Given the description of an element on the screen output the (x, y) to click on. 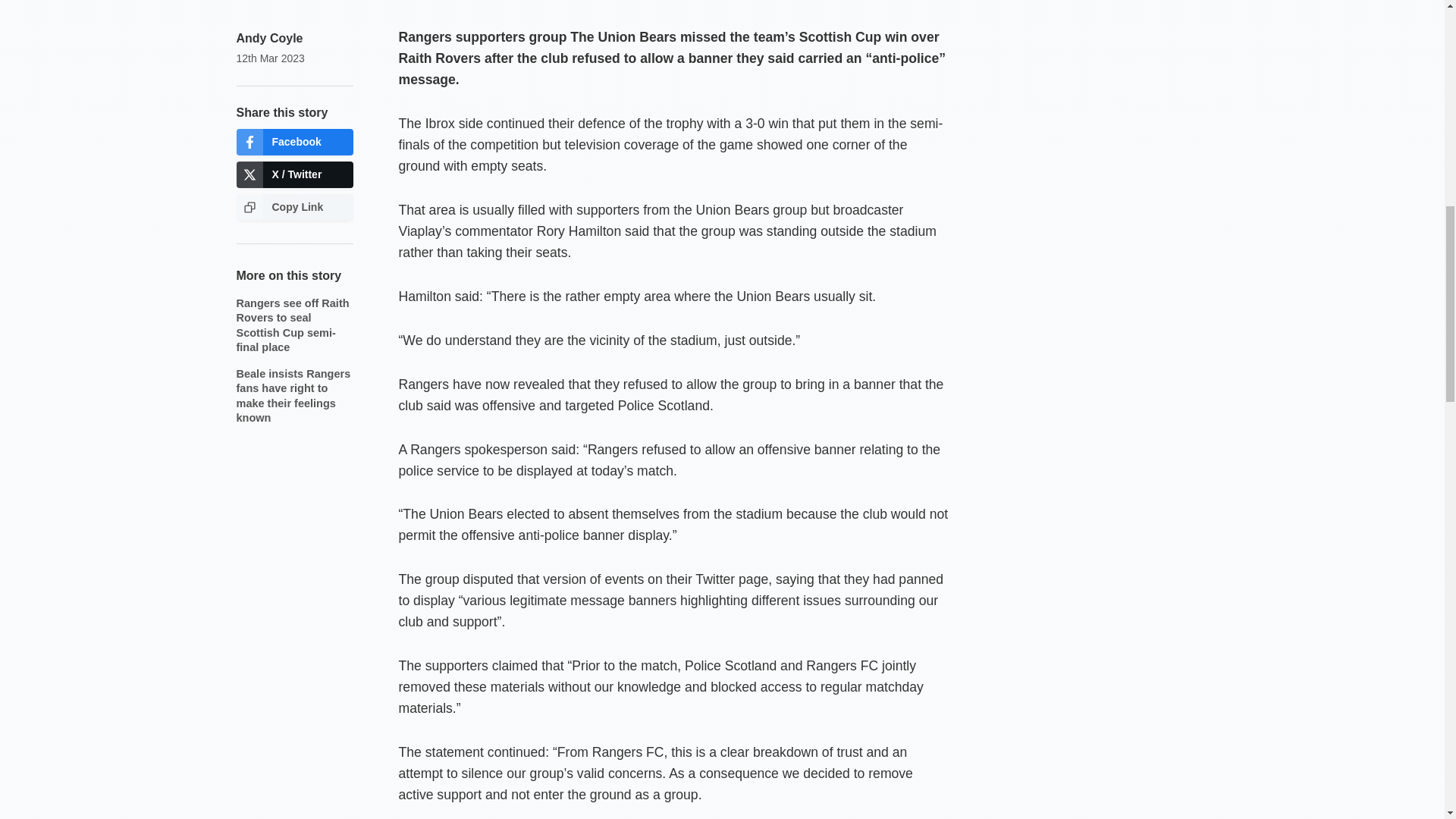
Facebook (294, 141)
Andy Coyle (268, 38)
